Given the description of an element on the screen output the (x, y) to click on. 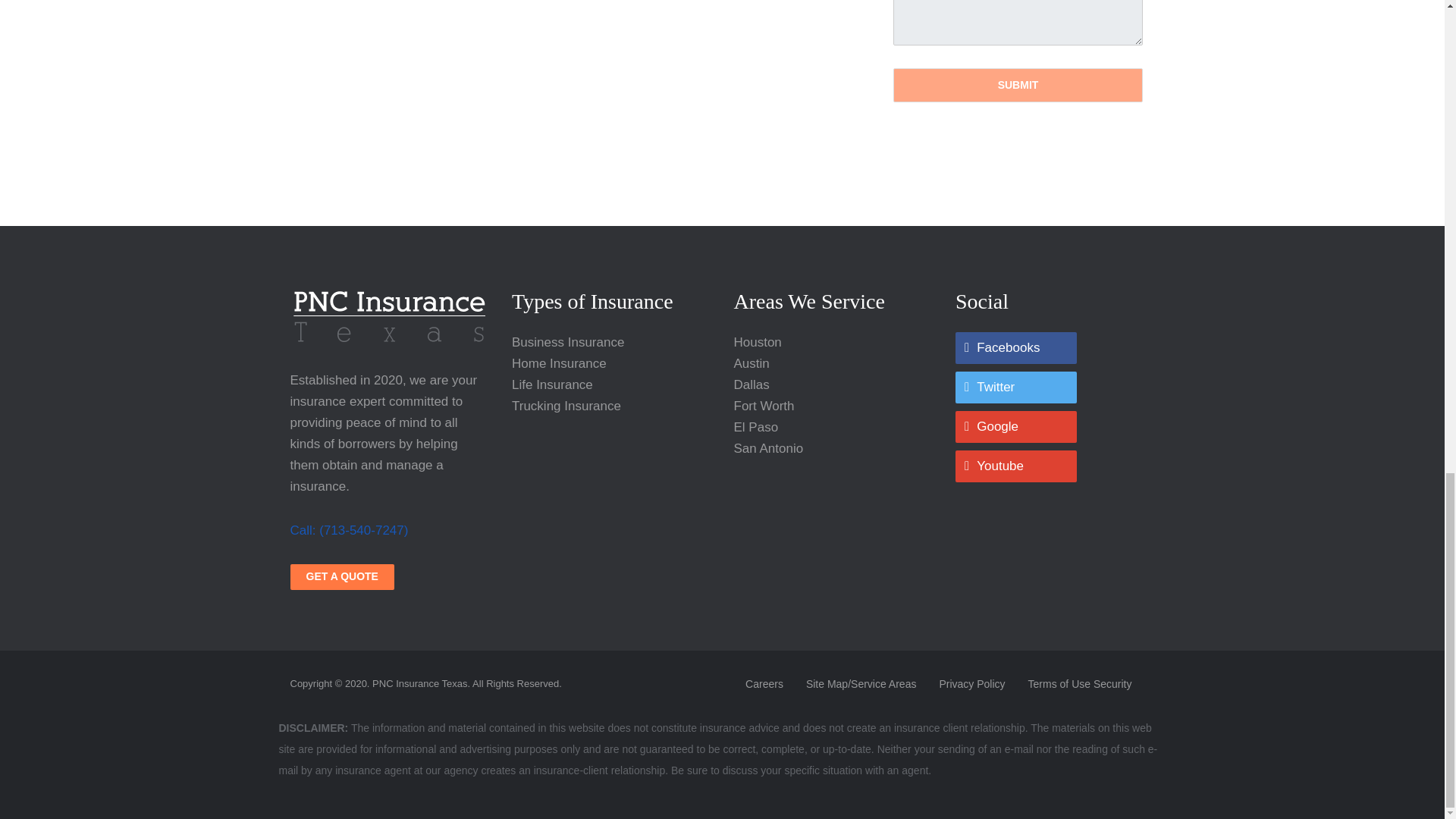
Submit (1017, 84)
